Given the description of an element on the screen output the (x, y) to click on. 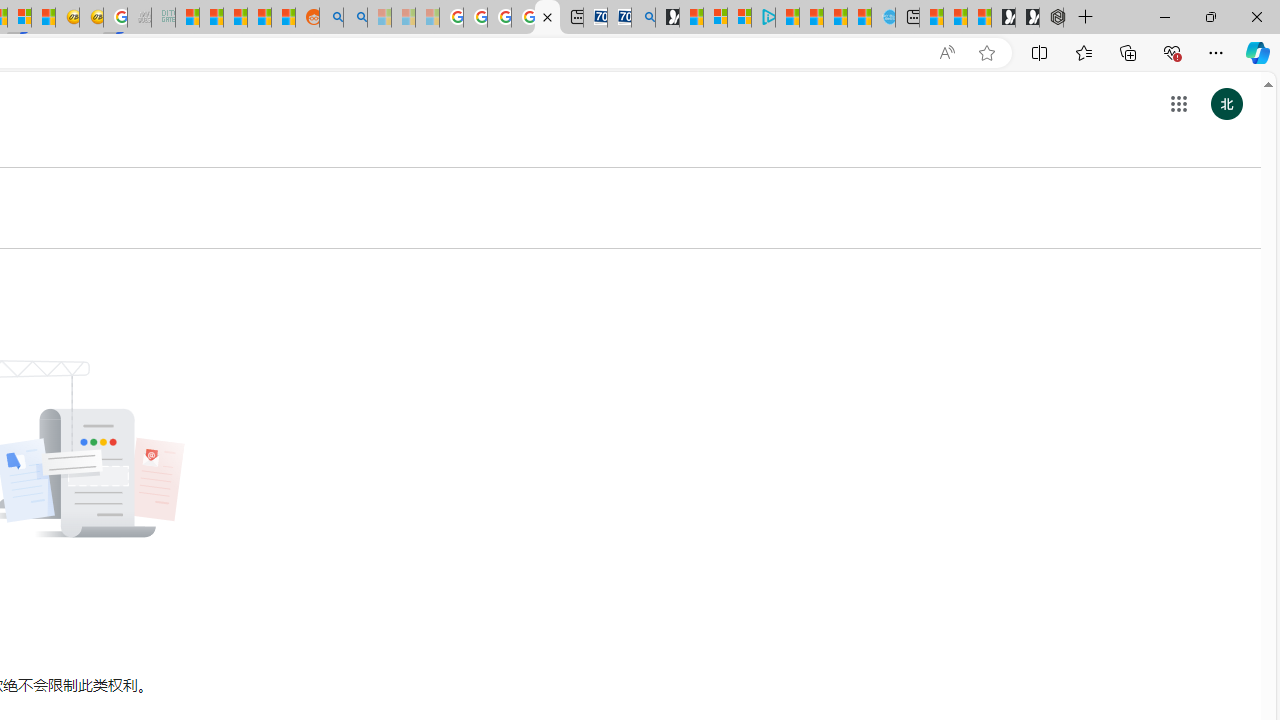
Utah sues federal government - Search (355, 17)
